Given the description of an element on the screen output the (x, y) to click on. 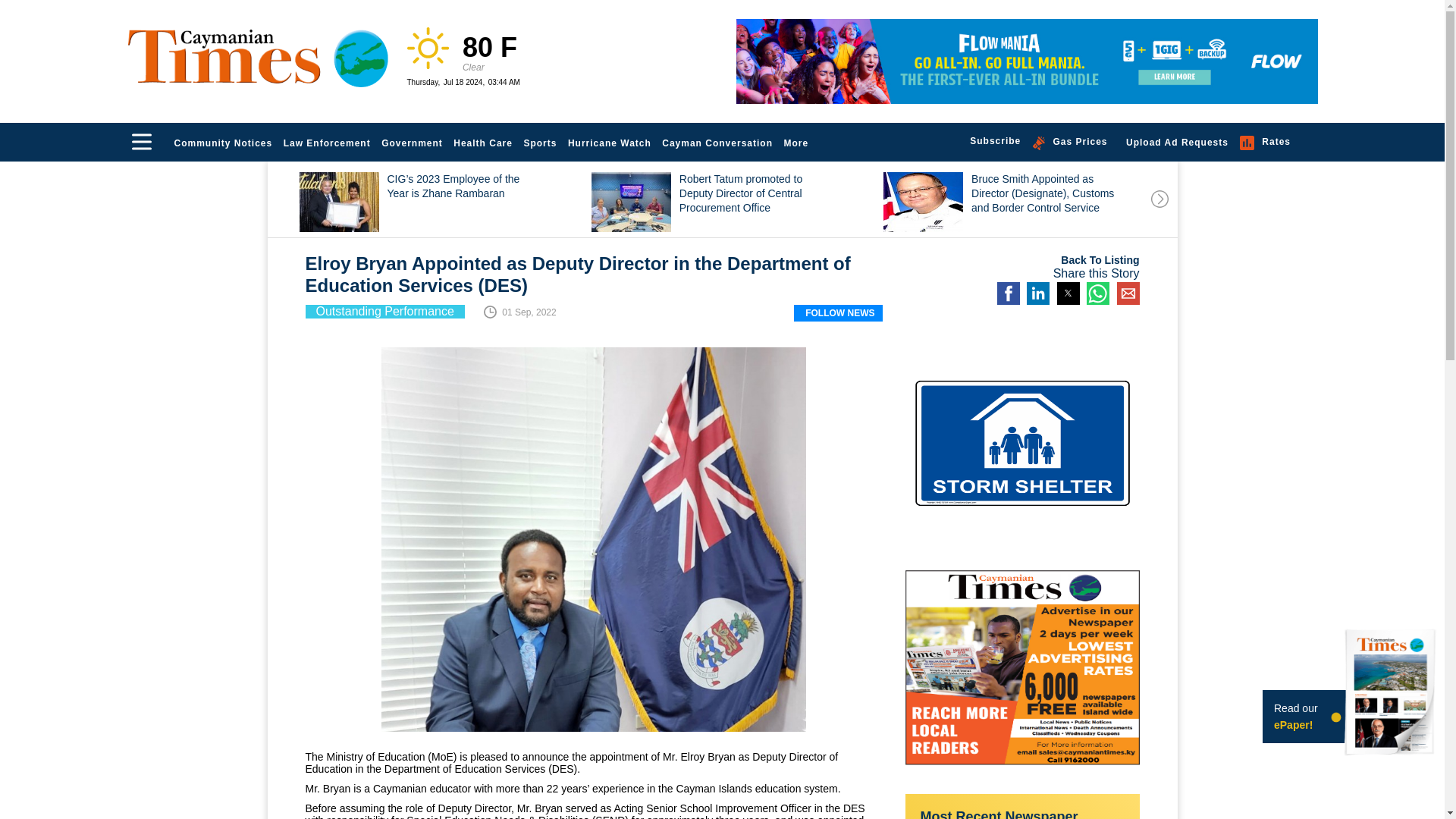
Hurricane Watch (609, 143)
Law Enforcement (326, 143)
Community Notices (223, 143)
More (796, 143)
Sports (539, 143)
FLOW (1026, 61)
Health Care (482, 143)
Cayman Conversation (717, 143)
Cayman Conversation (717, 143)
Hurricane Watch (609, 143)
Community Notices (223, 143)
Government (411, 143)
Menu (141, 141)
Health Care (482, 143)
